Given the description of an element on the screen output the (x, y) to click on. 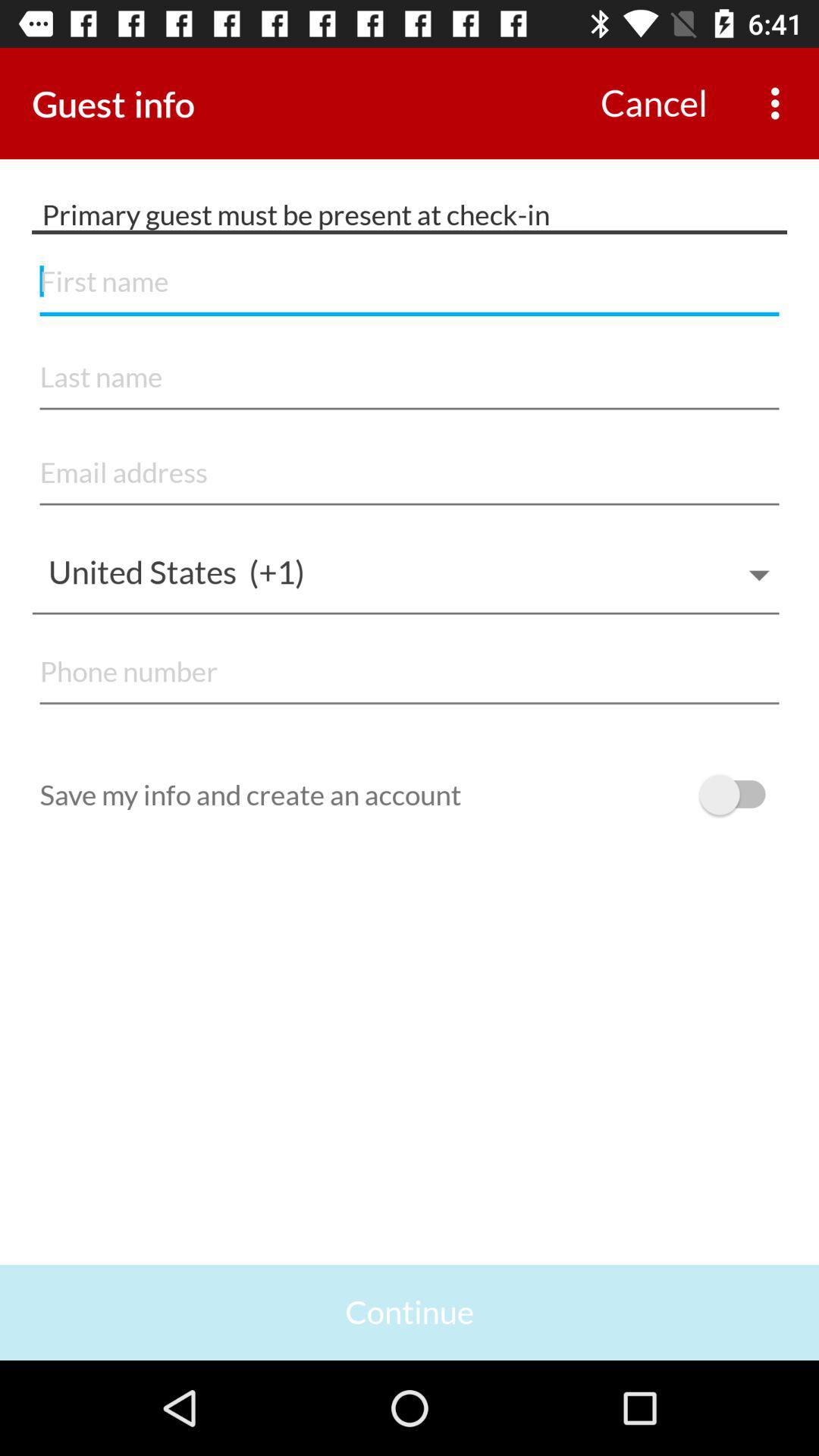
enter last name (409, 377)
